Given the description of an element on the screen output the (x, y) to click on. 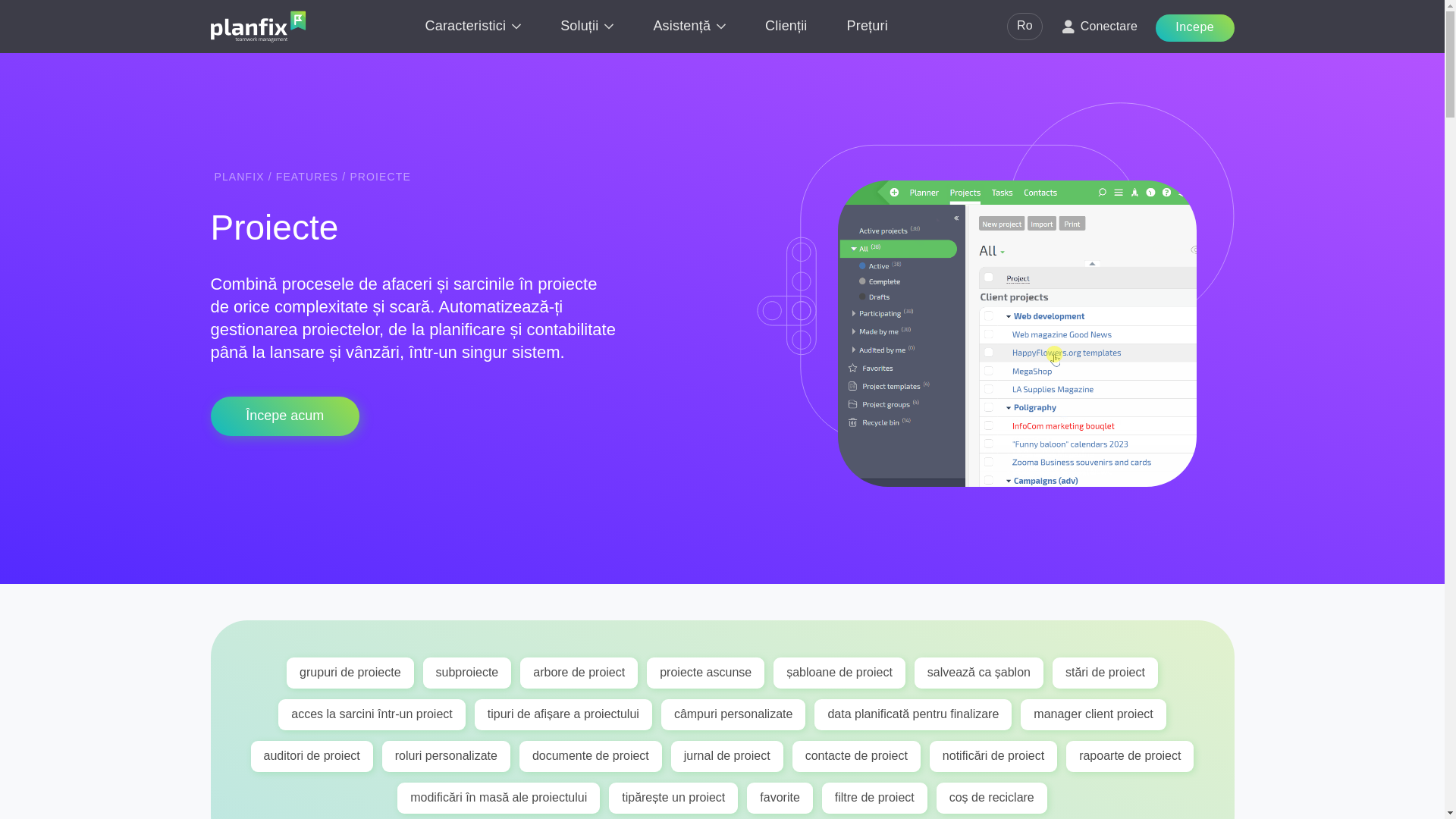
Sign up (285, 415)
